Given the description of an element on the screen output the (x, y) to click on. 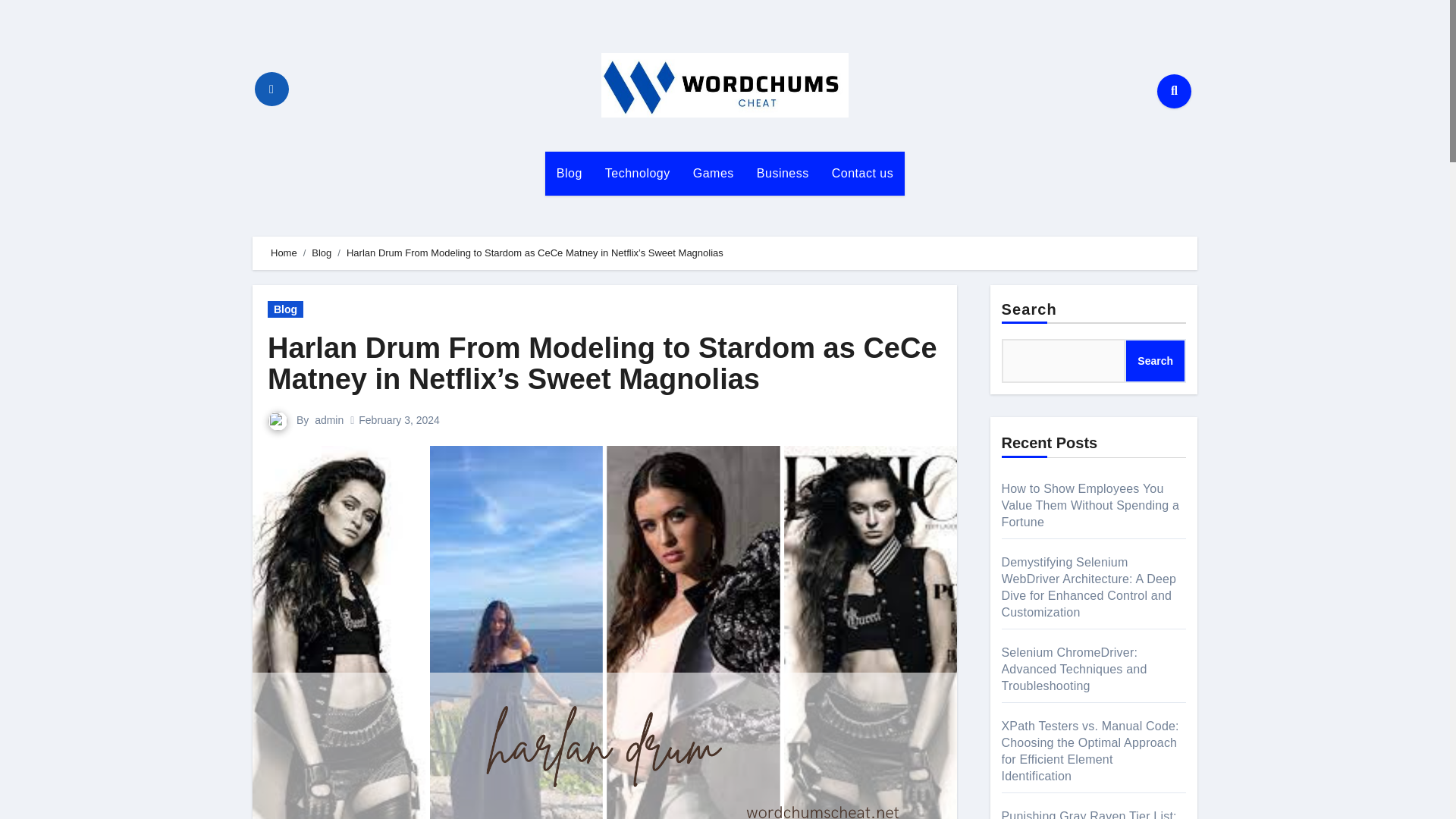
admin (328, 419)
Games (713, 173)
Technology (637, 173)
Contact us (862, 173)
Contact us (862, 173)
Business (783, 173)
Games (713, 173)
Blog (284, 309)
Business (783, 173)
Blog (569, 173)
